Given the description of an element on the screen output the (x, y) to click on. 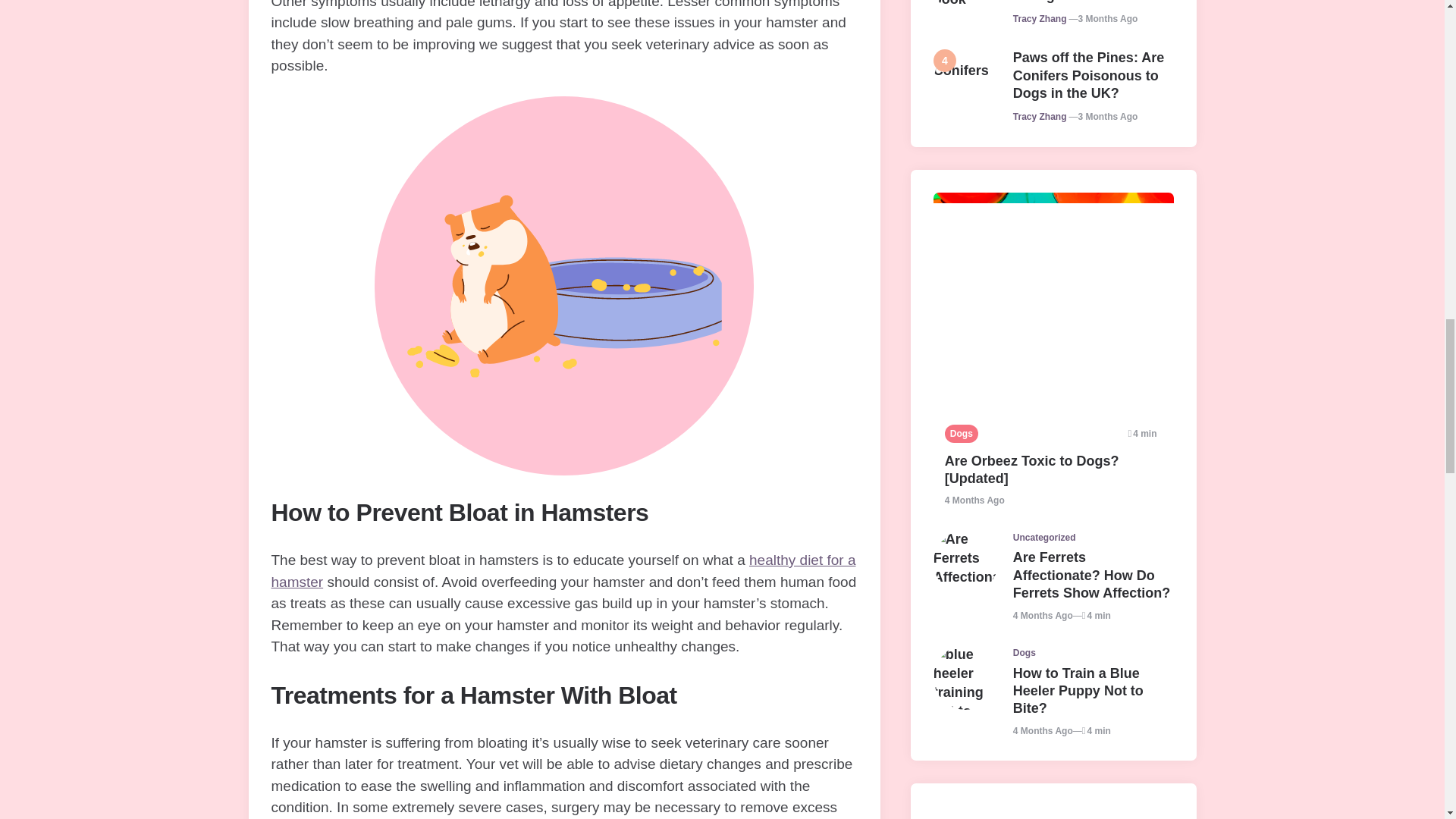
healthy diet for a hamster (563, 570)
